Given the description of an element on the screen output the (x, y) to click on. 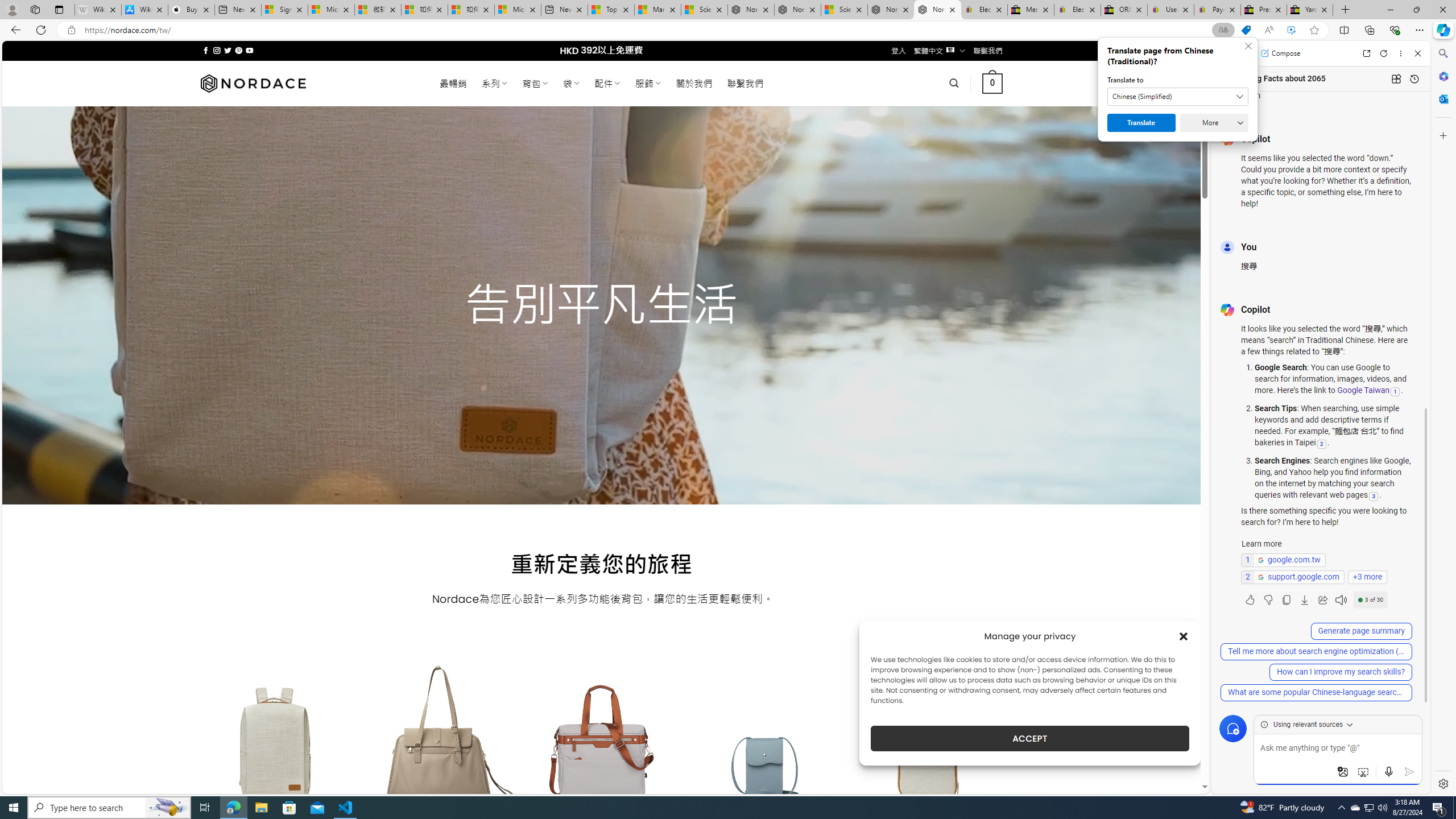
Show translate options (1222, 29)
Top Stories - MSN (610, 9)
Follow on Facebook (205, 50)
Sign in to your Microsoft account (284, 9)
Press Room - eBay Inc. (1263, 9)
ACCEPT (1029, 738)
